Given the description of an element on the screen output the (x, y) to click on. 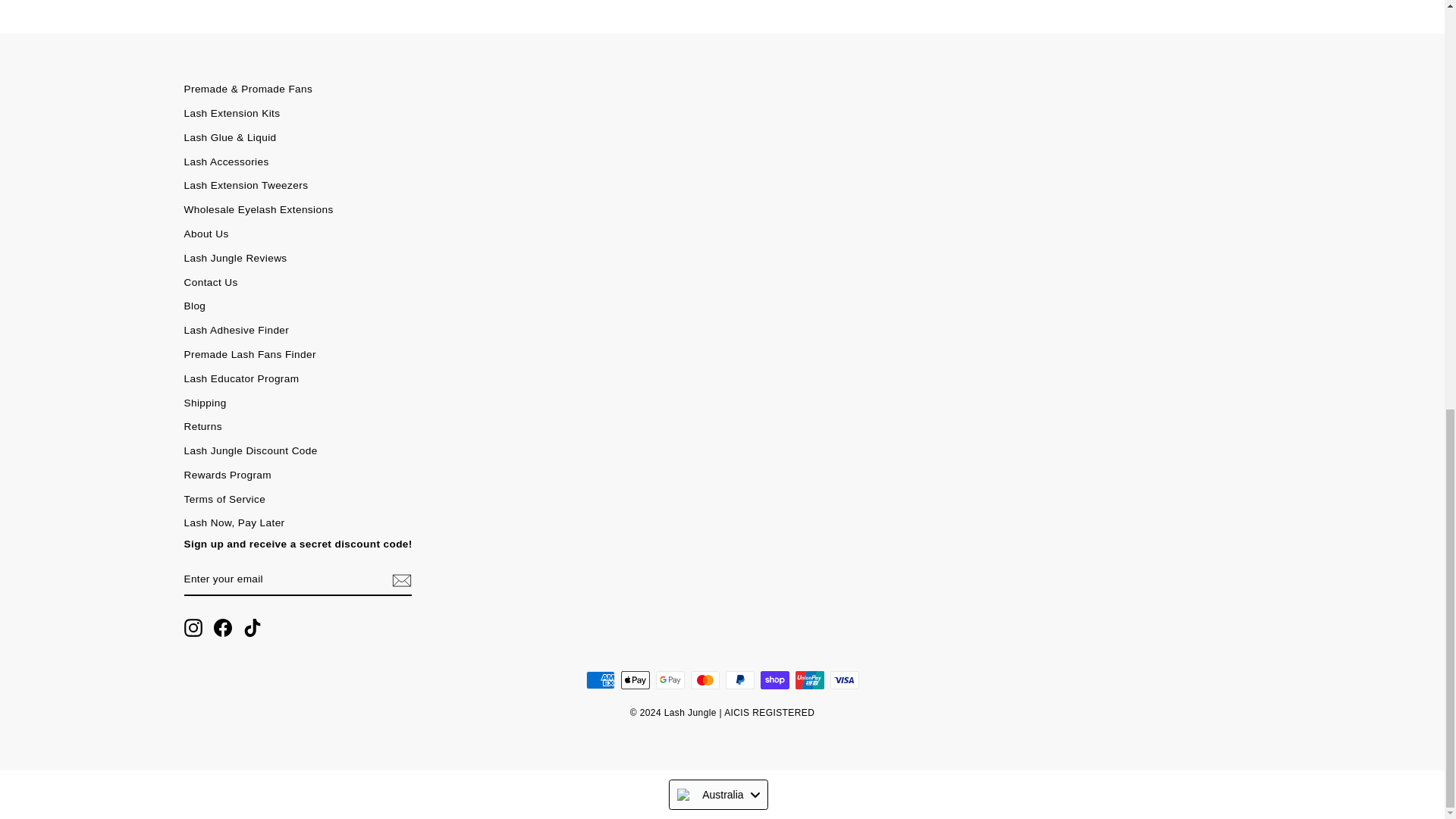
American Express (599, 679)
